Given the description of an element on the screen output the (x, y) to click on. 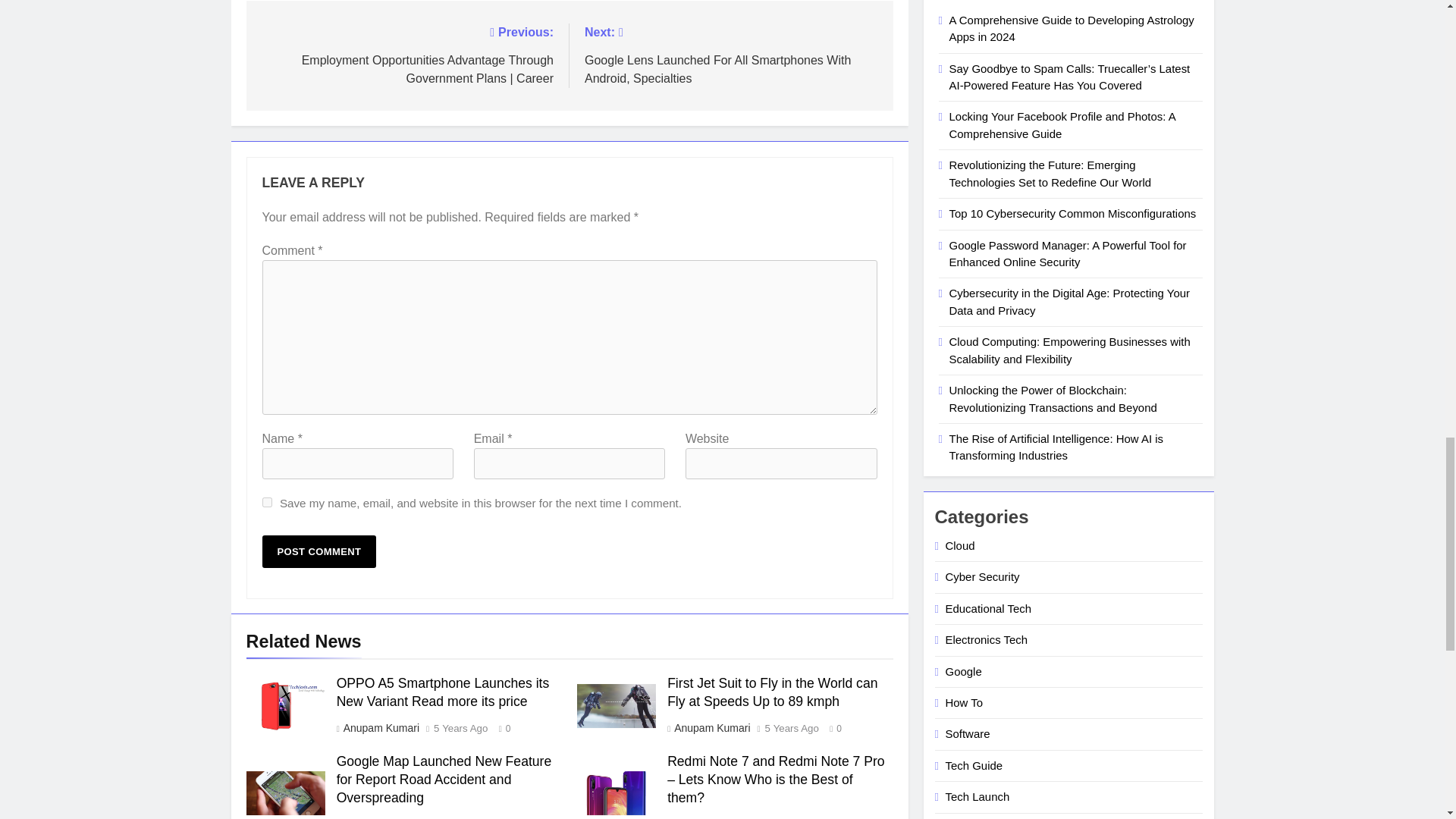
yes (267, 501)
Post Comment (319, 551)
